Given the description of an element on the screen output the (x, y) to click on. 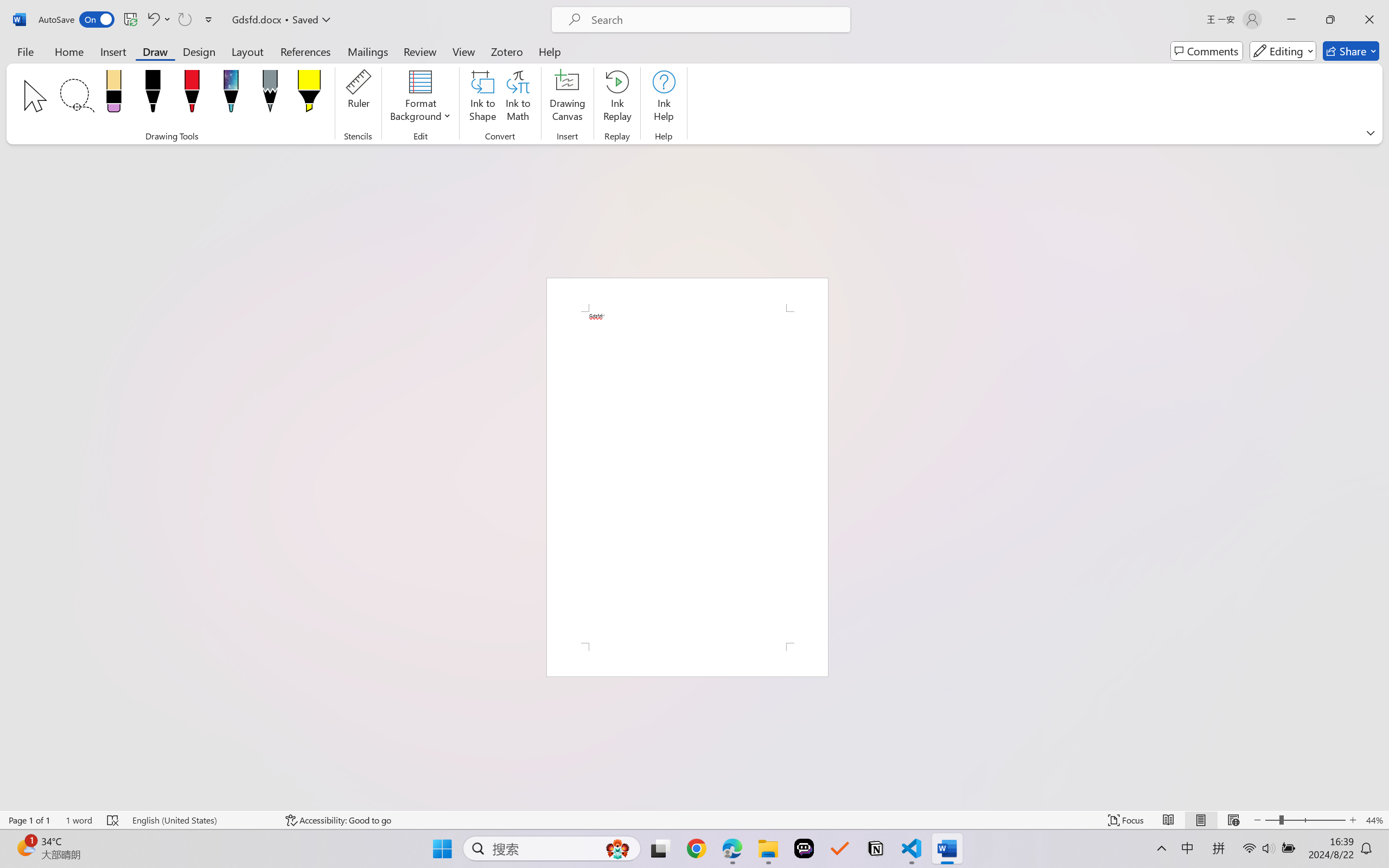
Percent (722, 391)
Cancel (722, 477)
OK (676, 477)
